Given the description of an element on the screen output the (x, y) to click on. 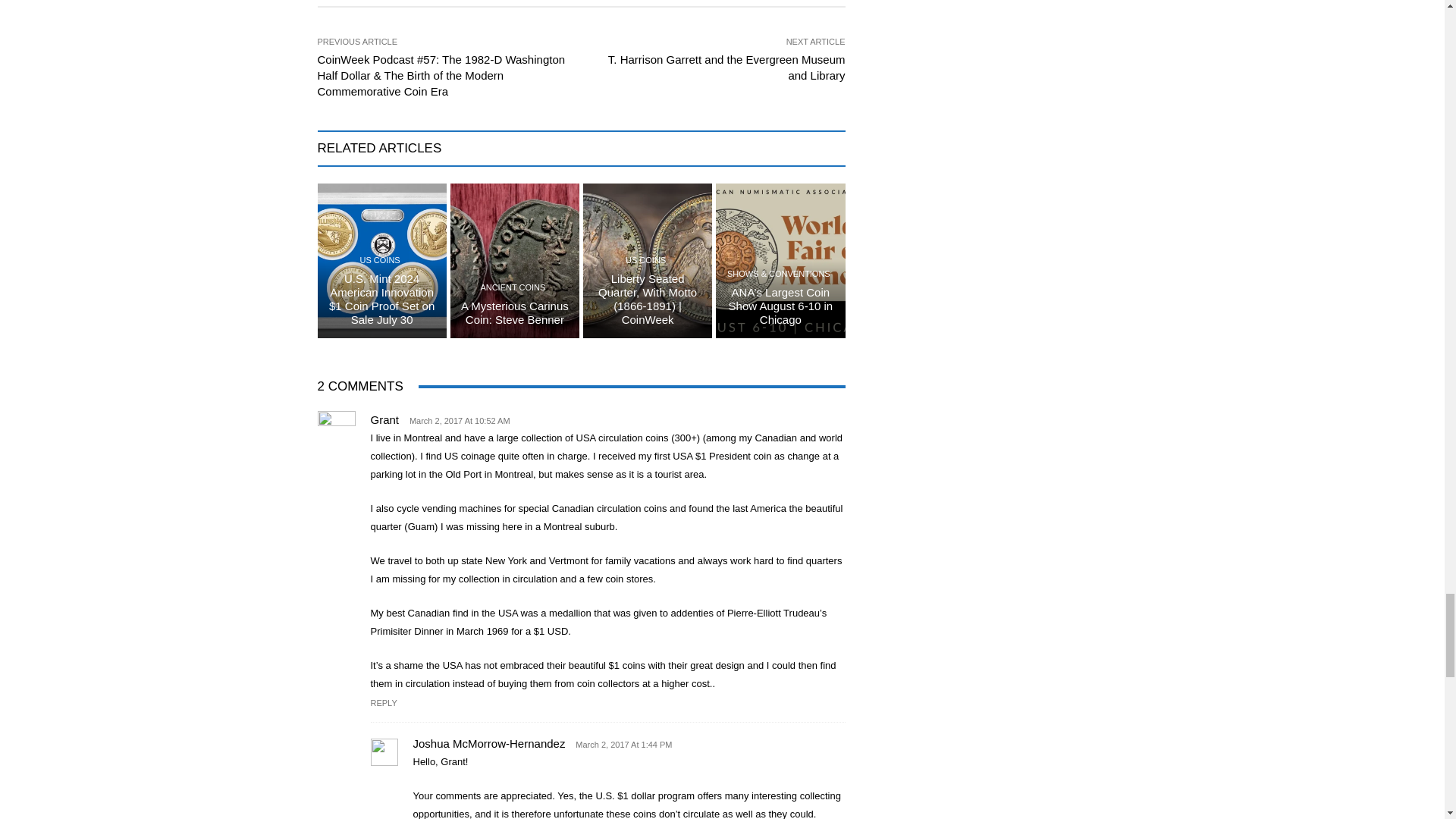
A Mysterious Carinus Coin: Steve Benner (515, 312)
